Given the description of an element on the screen output the (x, y) to click on. 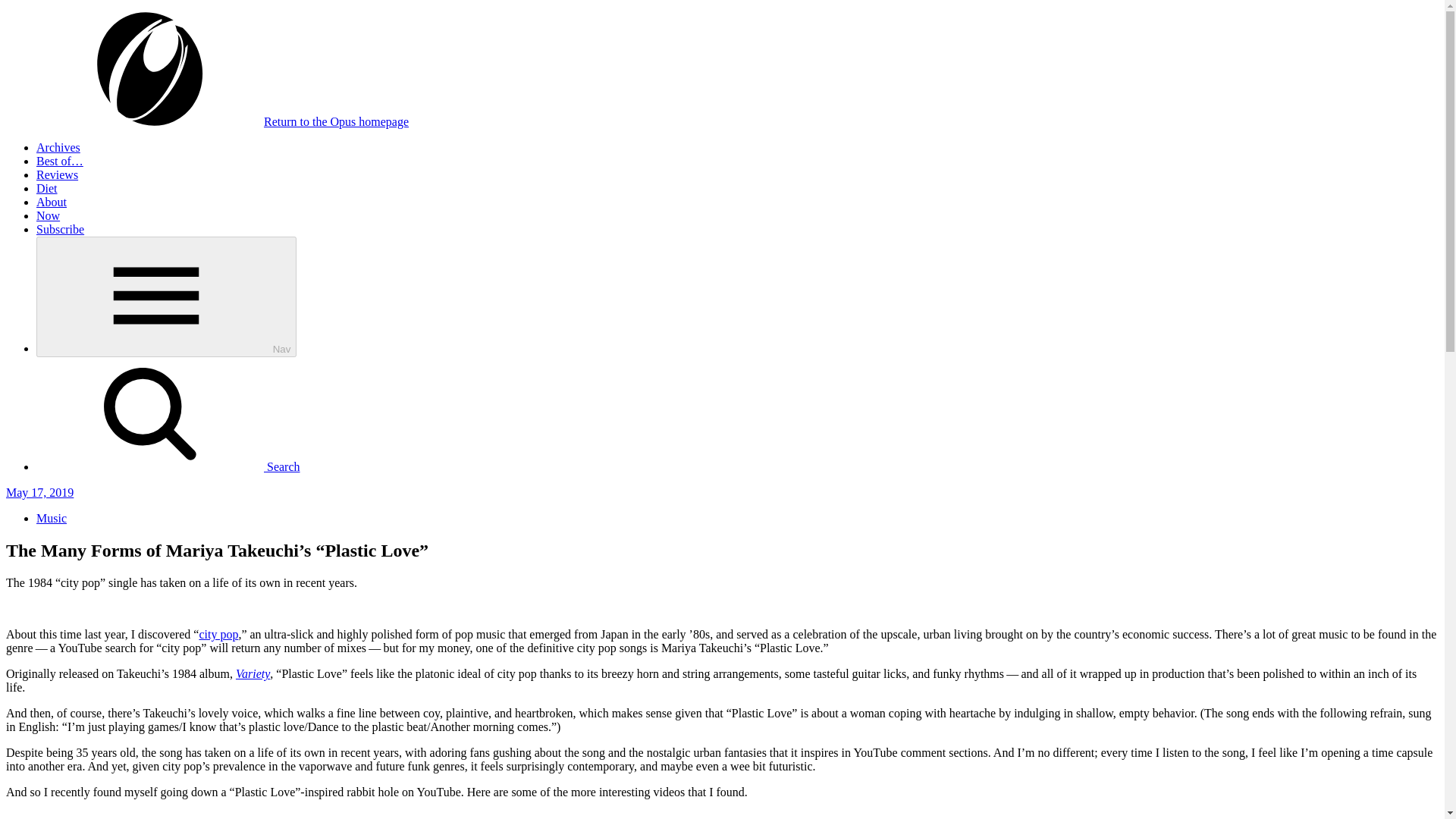
Music (51, 517)
Subscribe (60, 228)
Variety (252, 673)
Diet (47, 187)
May 17, 2019 (39, 492)
Reviews (57, 174)
About (51, 201)
Nav (166, 296)
Now (47, 215)
Return to the Opus homepage (222, 121)
Search (167, 466)
city pop (218, 634)
Archives (58, 146)
